Given the description of an element on the screen output the (x, y) to click on. 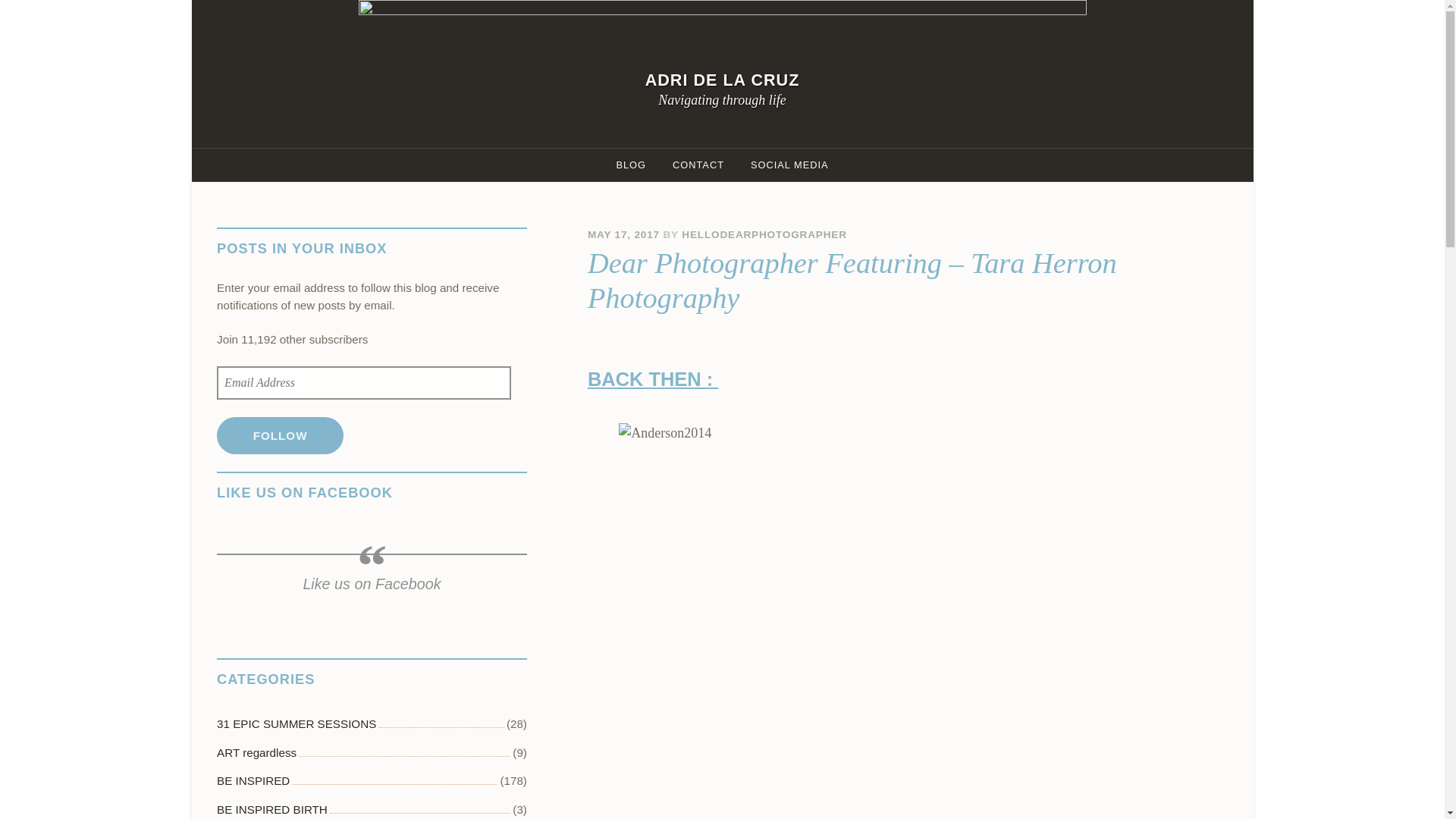
HELLODEARPHOTOGRAPHER (763, 234)
31 EPIC SUMMER SESSIONS (295, 724)
BE INSPIRED (252, 781)
ART regardless (256, 753)
FOLLOW (279, 435)
Adri de la cruz (722, 79)
ADRI DE LA CRUZ (722, 79)
CONTACT (698, 164)
BE INSPIRED BIRTH (271, 807)
MAY 17, 2017 (623, 234)
